Given the description of an element on the screen output the (x, y) to click on. 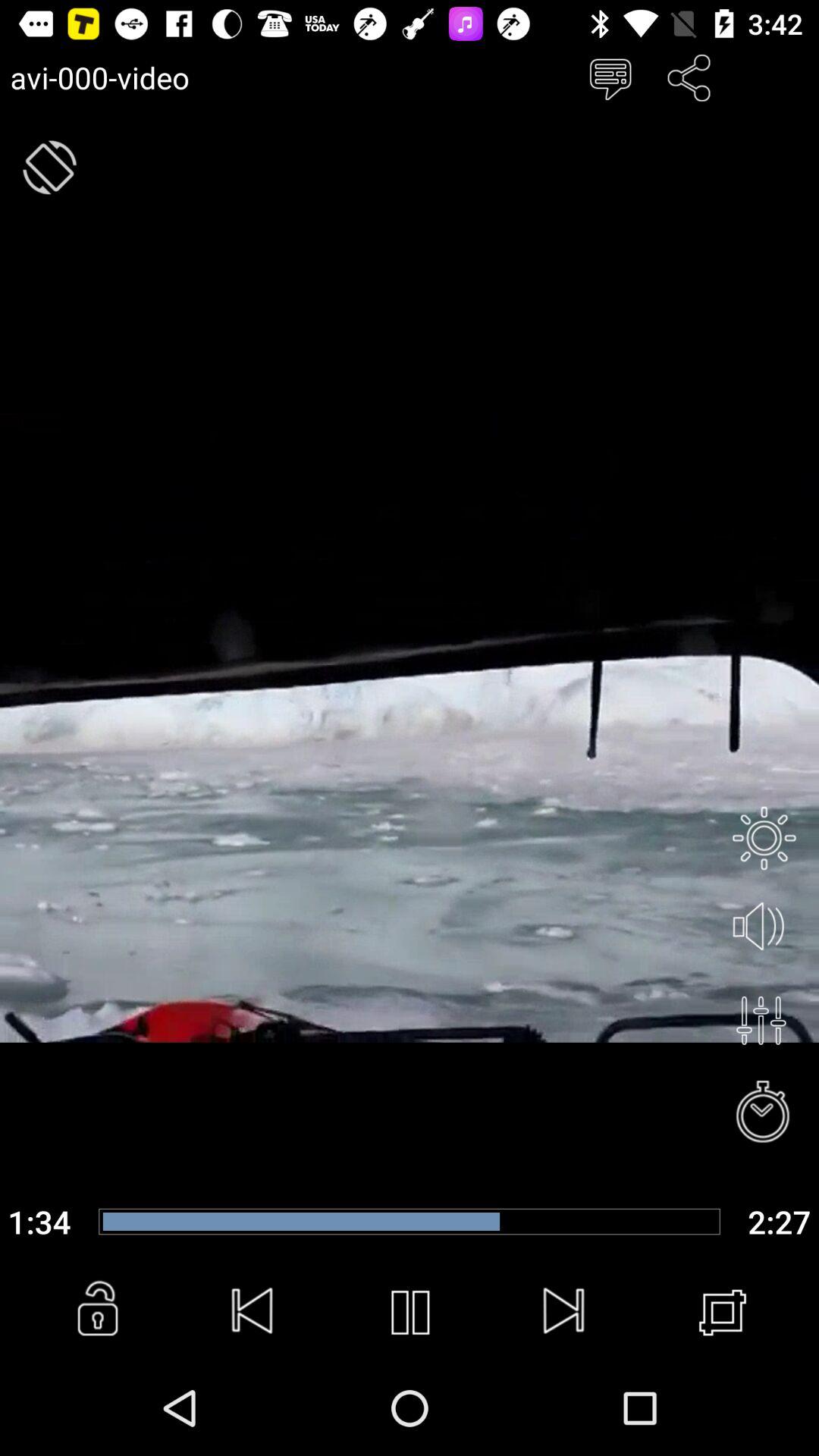
mute button (764, 927)
